Given the description of an element on the screen output the (x, y) to click on. 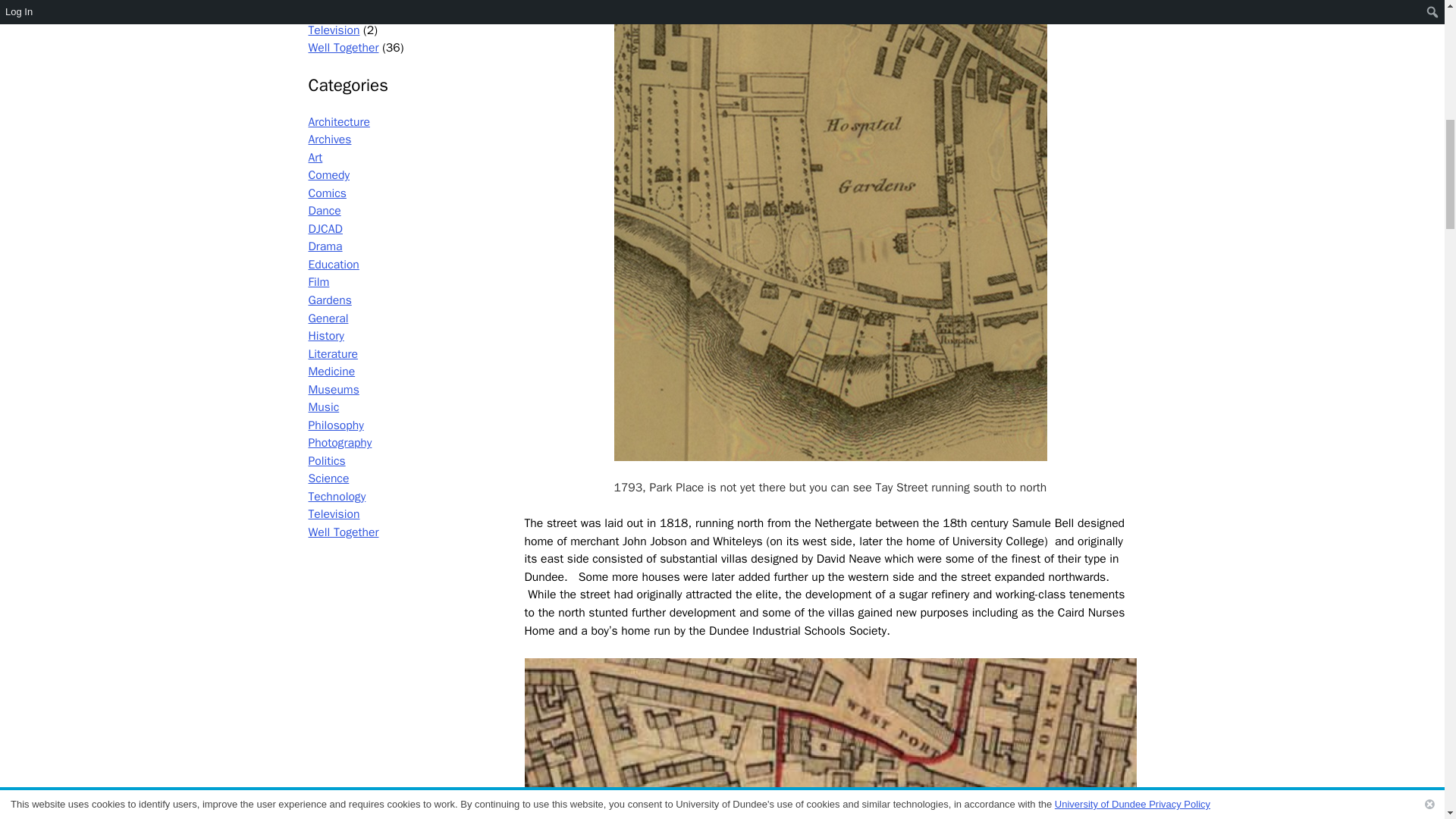
Archives (328, 139)
Comics (326, 192)
Art (314, 157)
Dance (323, 210)
Architecture (338, 121)
Television (333, 29)
Well Together (342, 47)
DJCAD (324, 228)
Technology (336, 11)
Comedy (328, 174)
Science (328, 1)
